Given the description of an element on the screen output the (x, y) to click on. 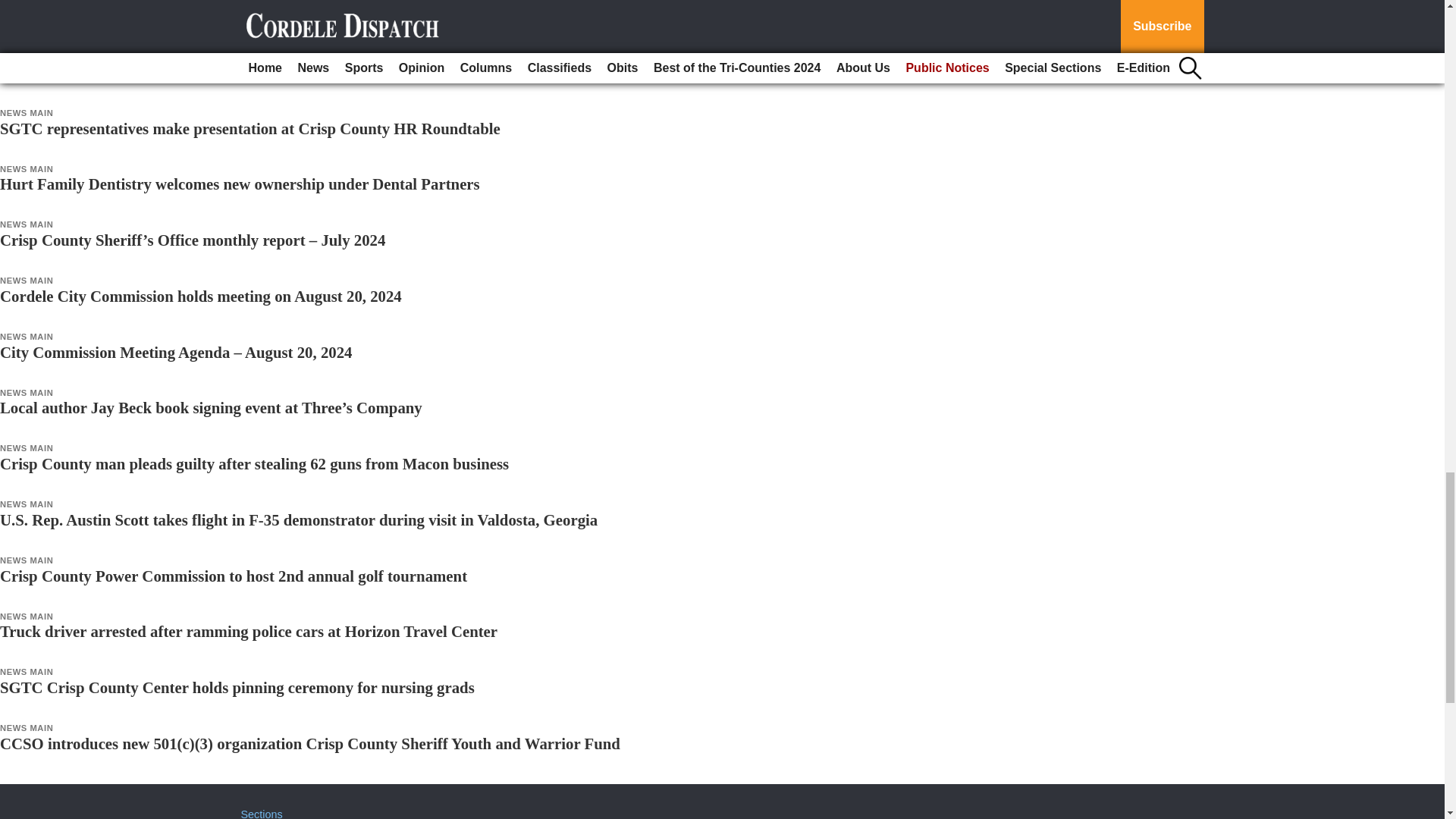
Cordele City Commission holds meeting on August 20, 2024 (200, 295)
Cordele City Commission holds meeting on August 20, 2024 (200, 295)
